Given the description of an element on the screen output the (x, y) to click on. 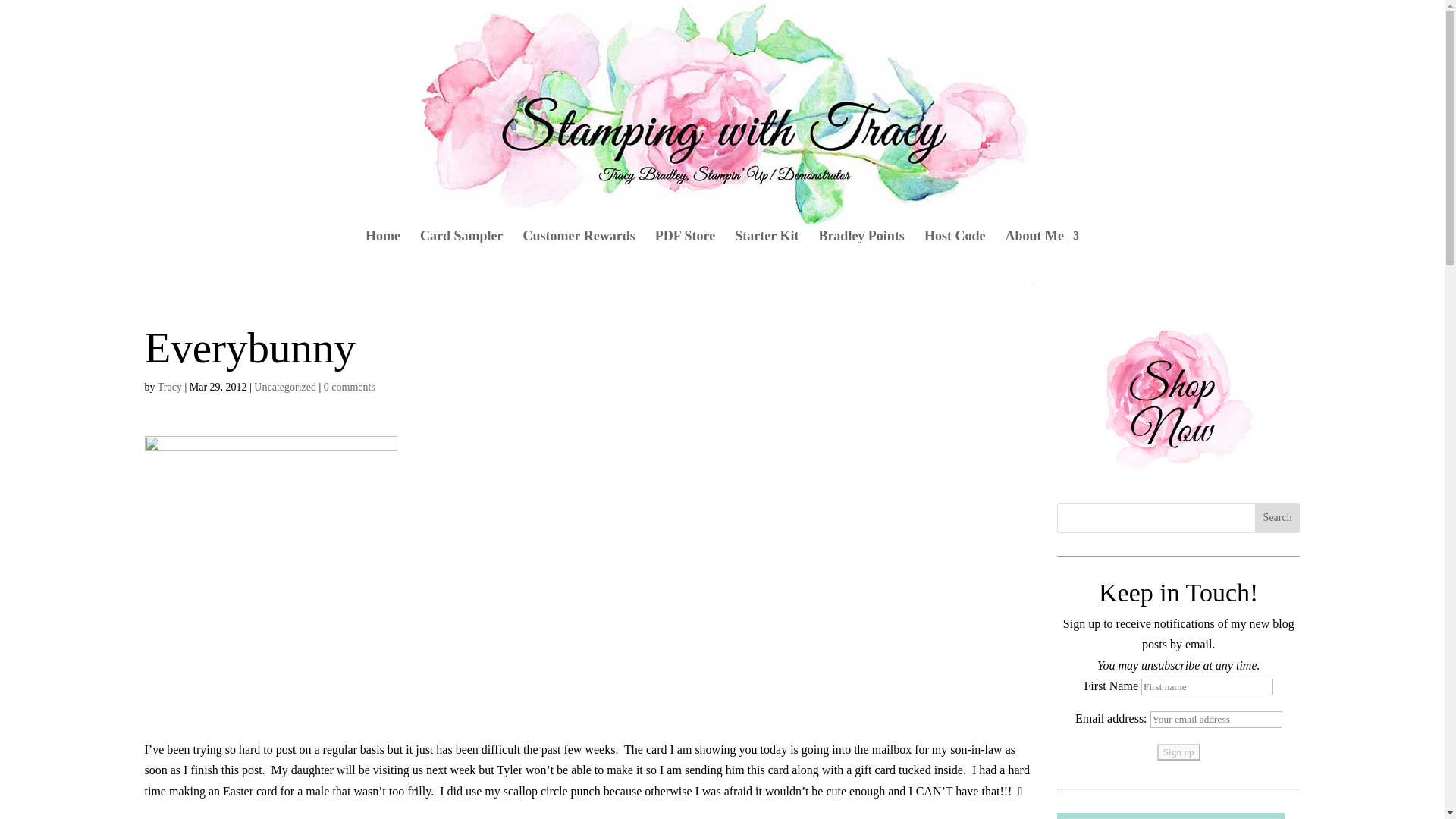
Uncategorized (284, 387)
Search (1277, 517)
About Me (1041, 255)
Posts by Tracy (169, 387)
Customer Rewards (578, 255)
Starter Kit (766, 255)
Tracy (169, 387)
Search (1277, 517)
PDF Store (684, 255)
Bradley Points (861, 255)
0 comments (349, 387)
Sign up (1178, 751)
Home (382, 255)
Host Code (954, 255)
Sign up (1178, 751)
